Given the description of an element on the screen output the (x, y) to click on. 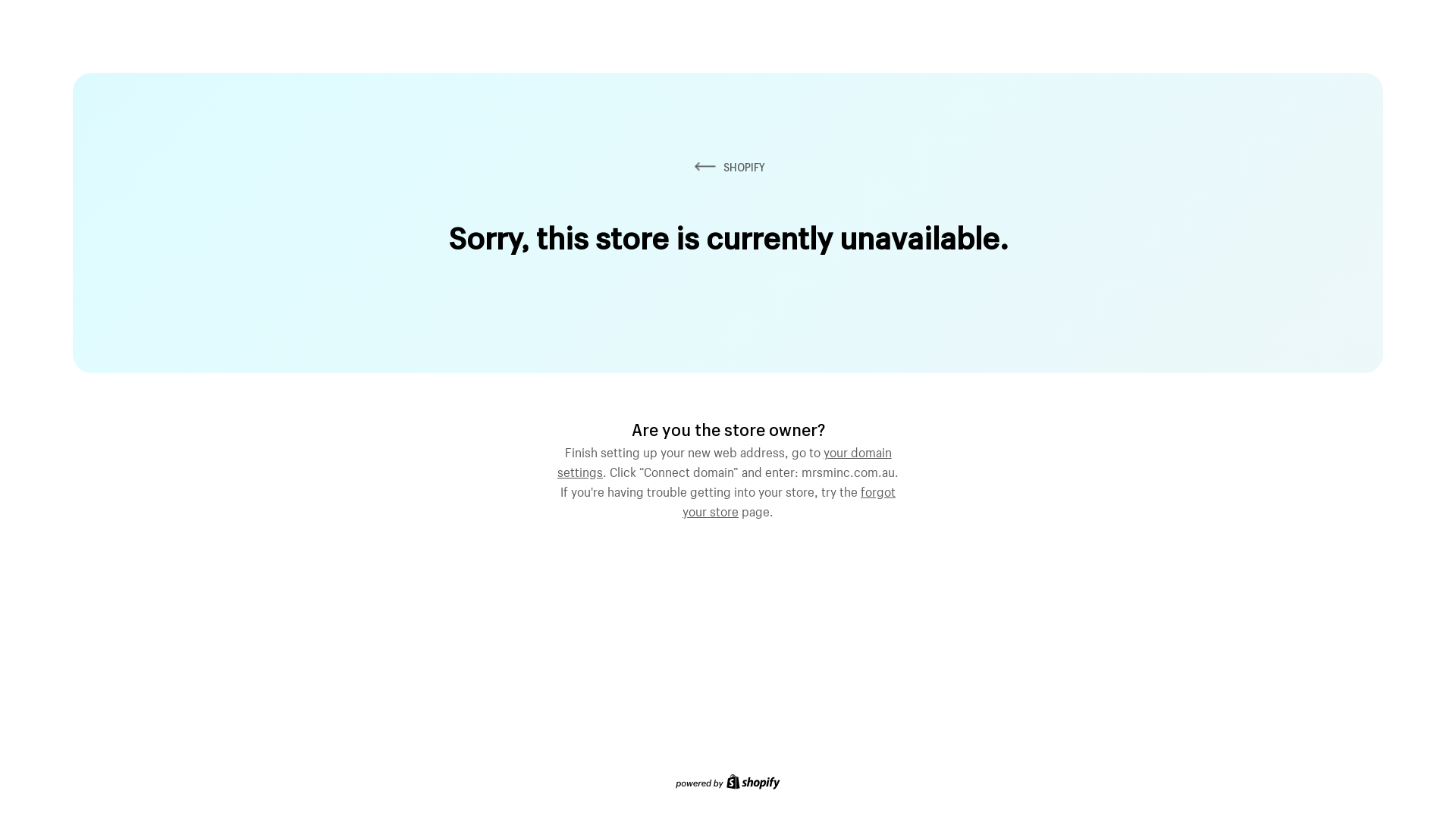
your domain settings Element type: text (724, 460)
forgot your store Element type: text (788, 499)
SHOPIFY Element type: text (727, 167)
